Given the description of an element on the screen output the (x, y) to click on. 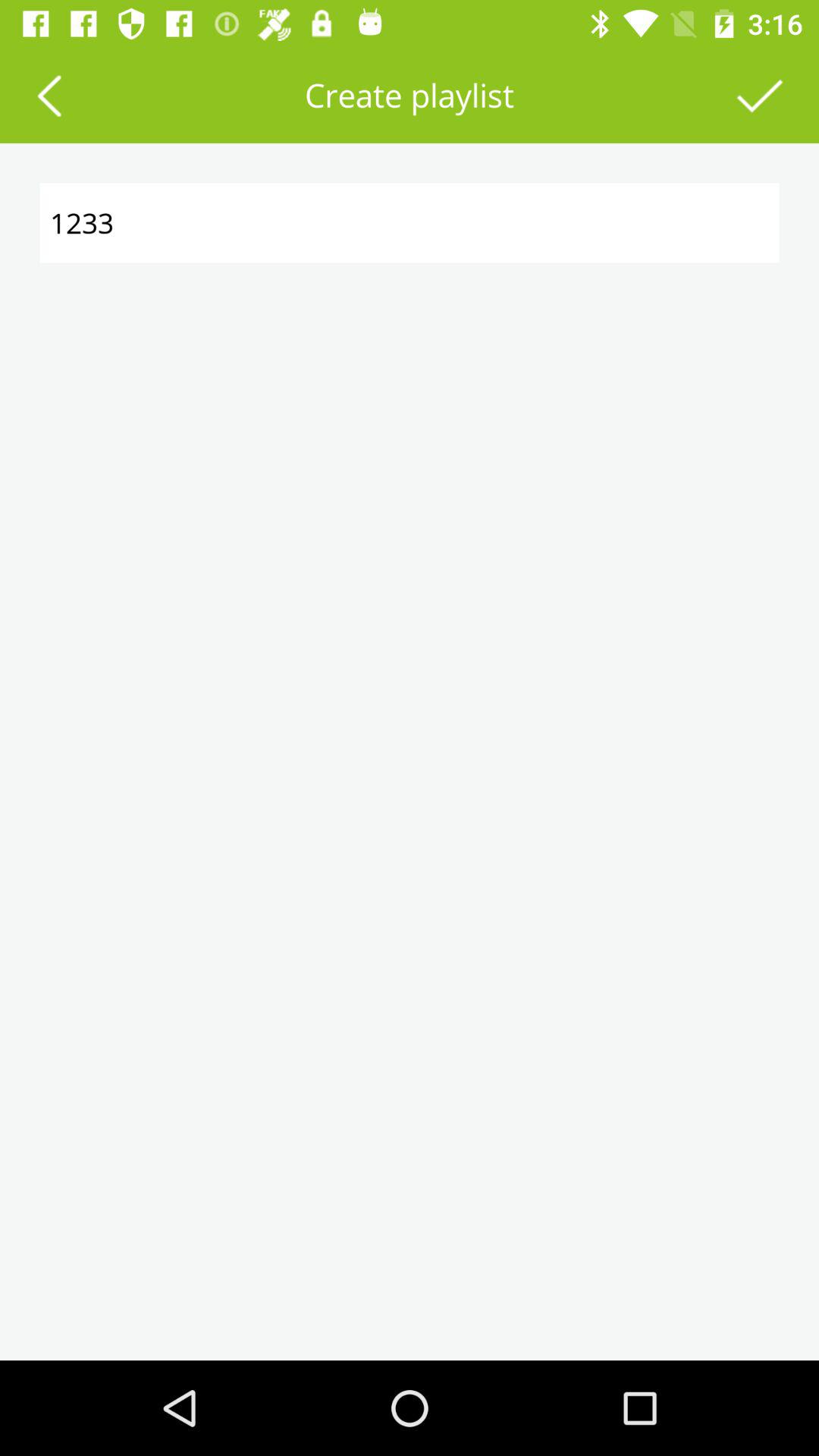
create the playlist (759, 95)
